Given the description of an element on the screen output the (x, y) to click on. 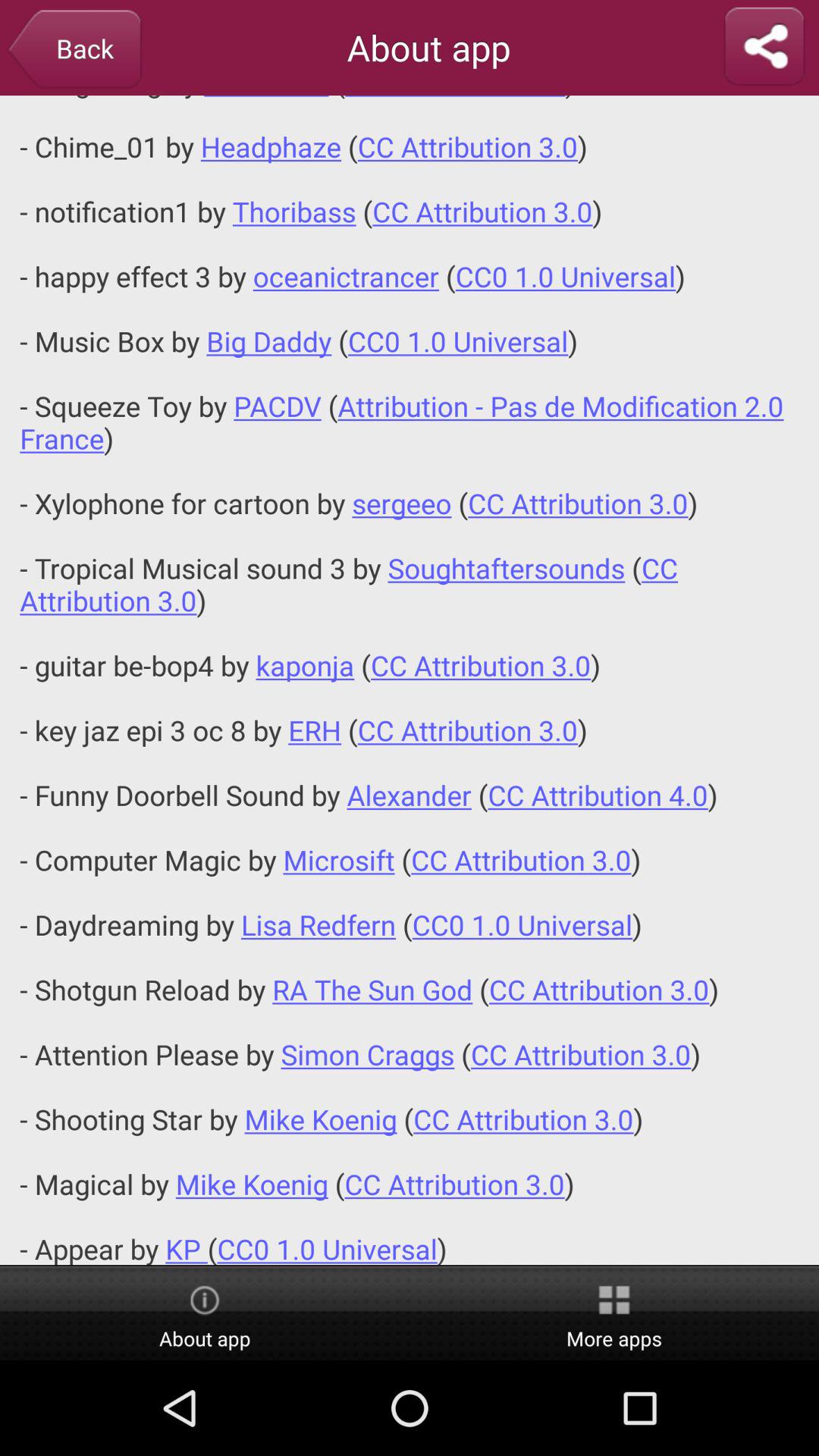
swipe until the back (73, 50)
